Given the description of an element on the screen output the (x, y) to click on. 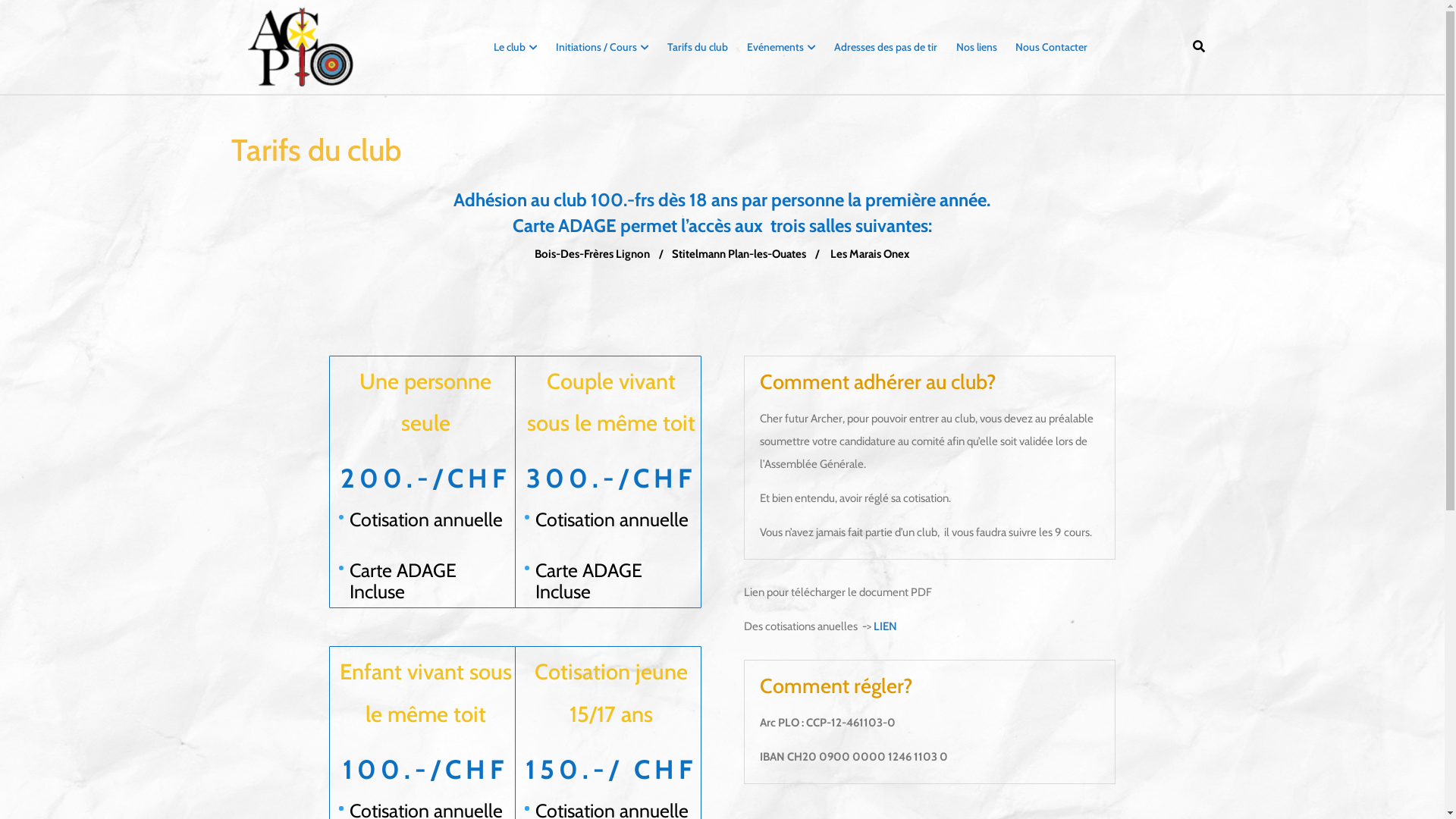
Adresses des pas de tir Element type: text (885, 46)
Nos liens Element type: text (976, 46)
Le club Element type: text (514, 46)
Nous Contacter Element type: text (1051, 46)
LIEN Element type: text (884, 629)
Tarifs du club Element type: text (697, 46)
Initiations / Cours Element type: text (602, 46)
